Given the description of an element on the screen output the (x, y) to click on. 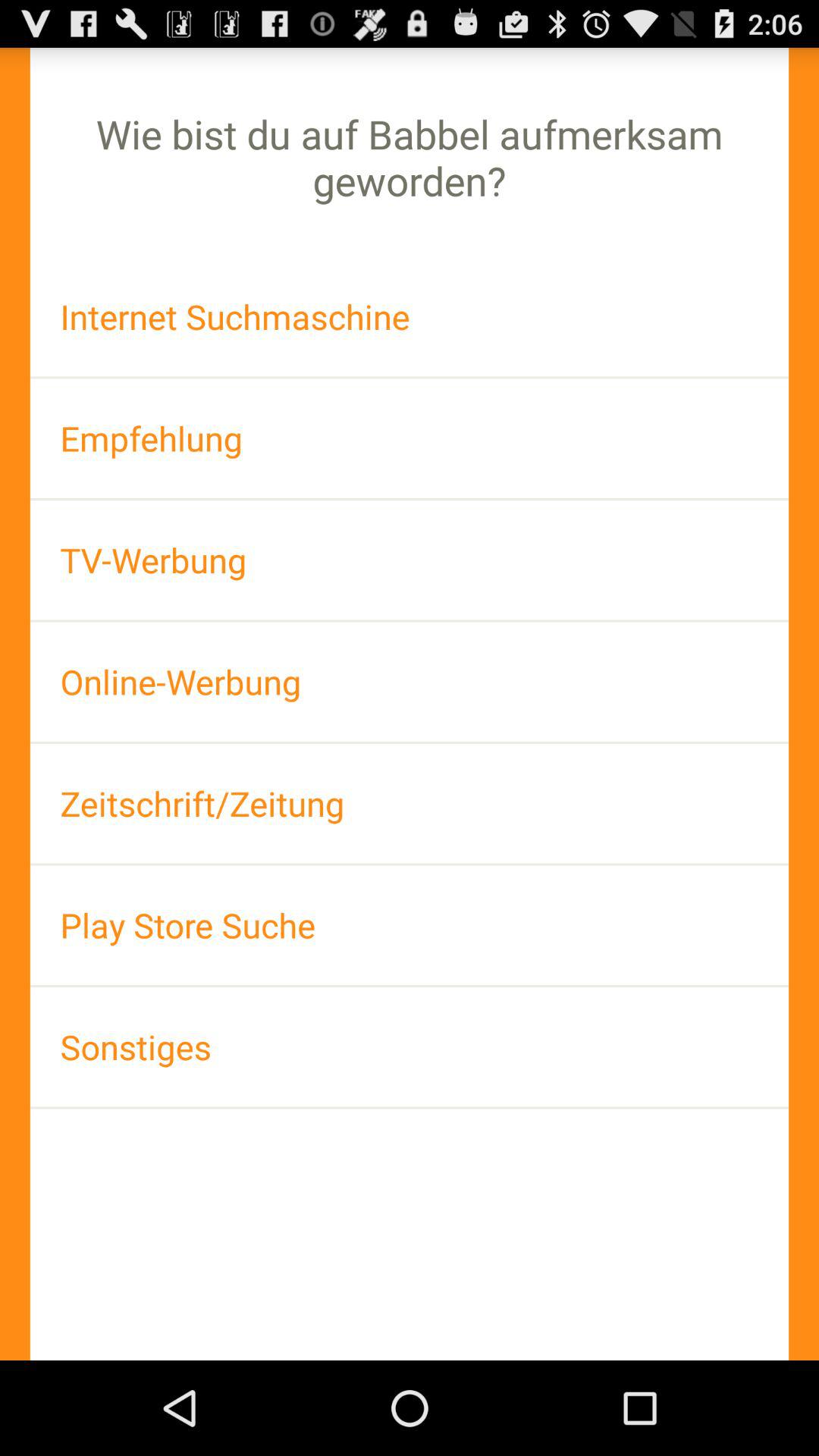
turn on item below the wie bist du app (409, 316)
